Given the description of an element on the screen output the (x, y) to click on. 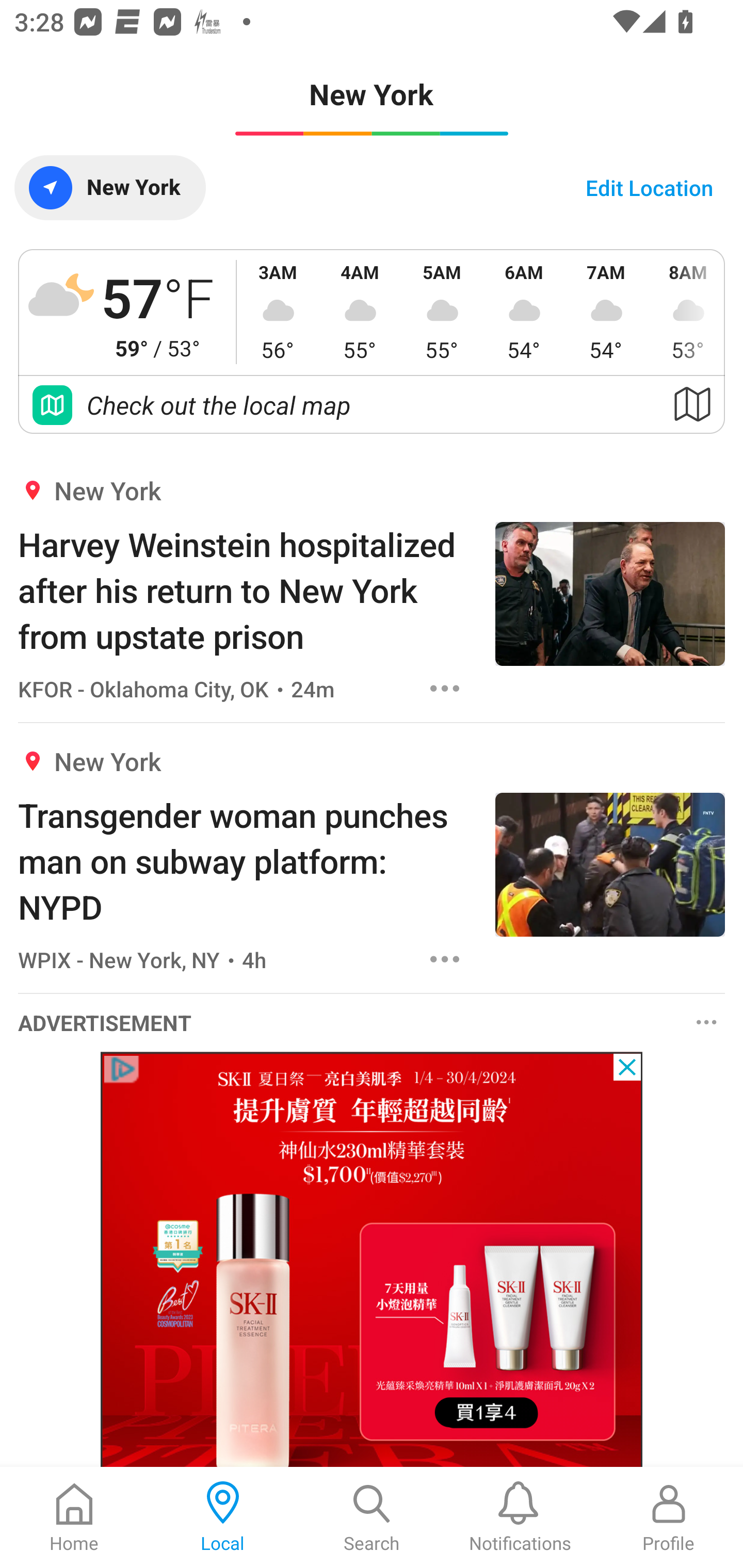
New York (109, 187)
Edit Location (648, 187)
3AM 56° (277, 311)
4AM 55° (359, 311)
5AM 55° (441, 311)
6AM 54° (523, 311)
7AM 54° (605, 311)
8AM 53° (686, 311)
Check out the local map (371, 405)
Options (444, 688)
Options (444, 959)
Options (706, 1021)
Home (74, 1517)
Search (371, 1517)
Notifications (519, 1517)
Profile (668, 1517)
